Given the description of an element on the screen output the (x, y) to click on. 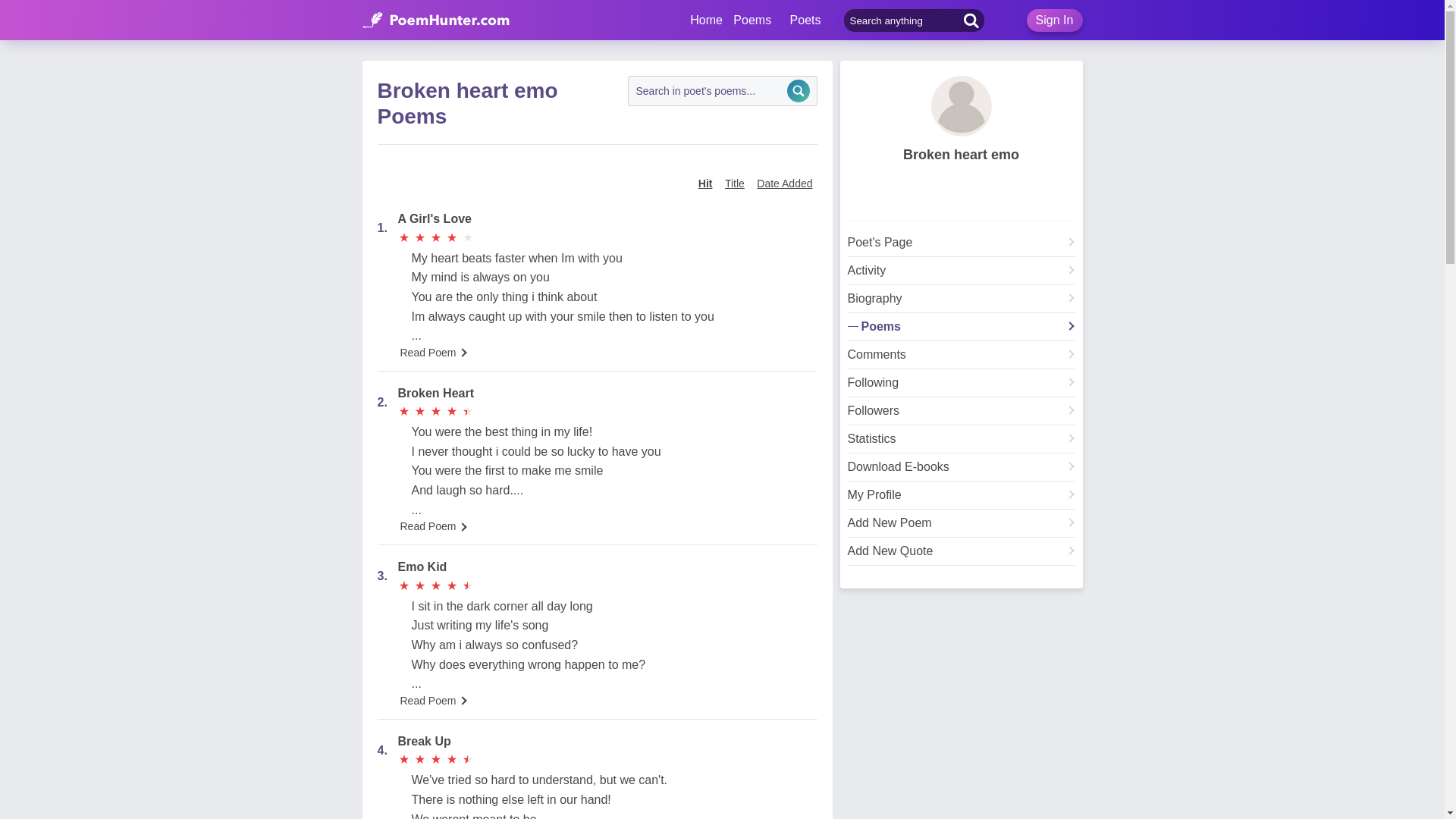
Home (706, 19)
Sign In (1054, 19)
PoemHunter.com: Poems - Poets - Poetry (435, 20)
PoemHunter.com: Poems - Poets - Poetry (706, 19)
